Given the description of an element on the screen output the (x, y) to click on. 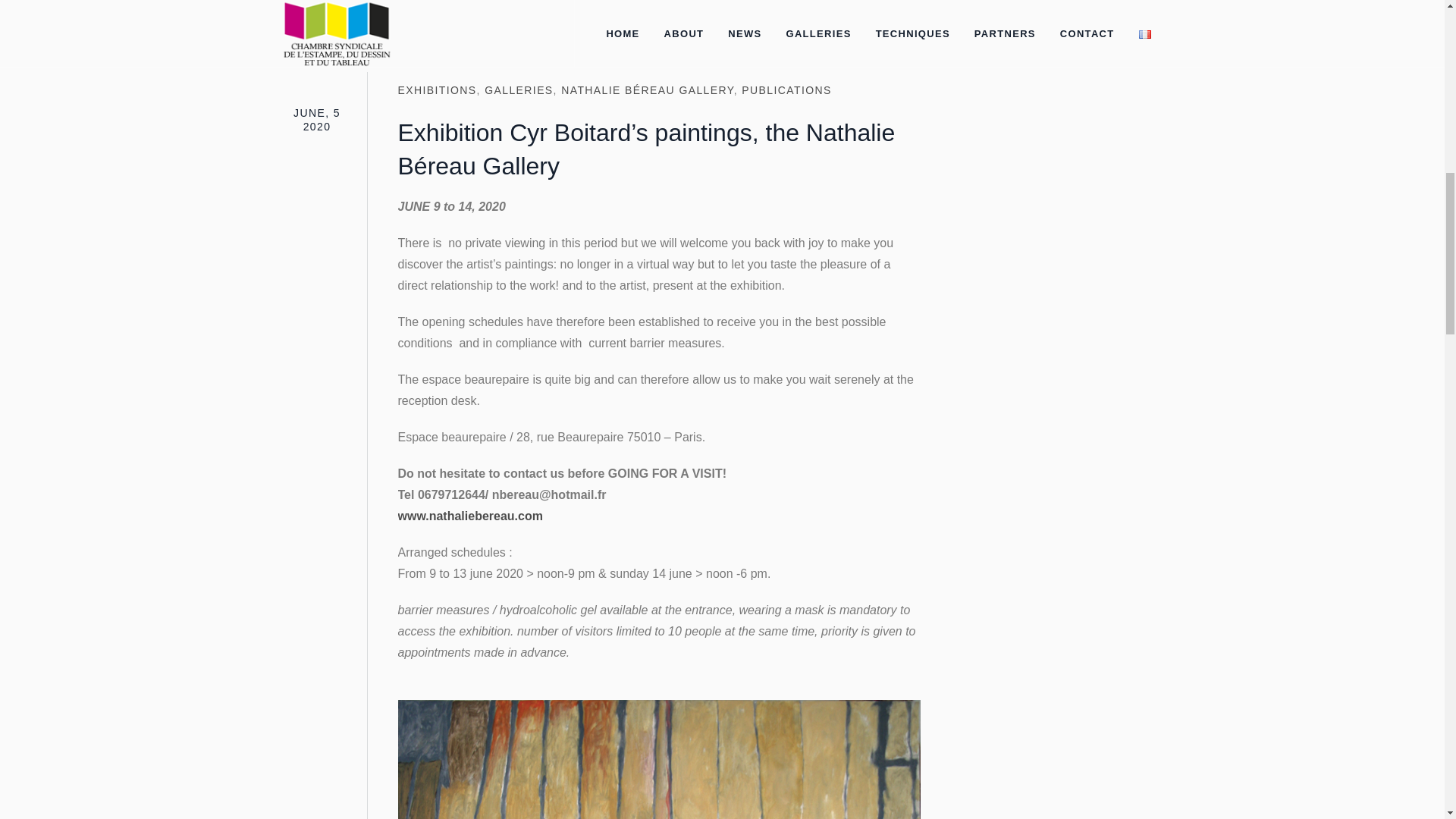
EXHIBITIONS (436, 90)
1: MER D'OIES (601, 20)
June, 5 2020 (316, 119)
GALLERIES (518, 90)
www.nathaliebereau.com (469, 515)
PUBLICATIONS (786, 90)
